Given the description of an element on the screen output the (x, y) to click on. 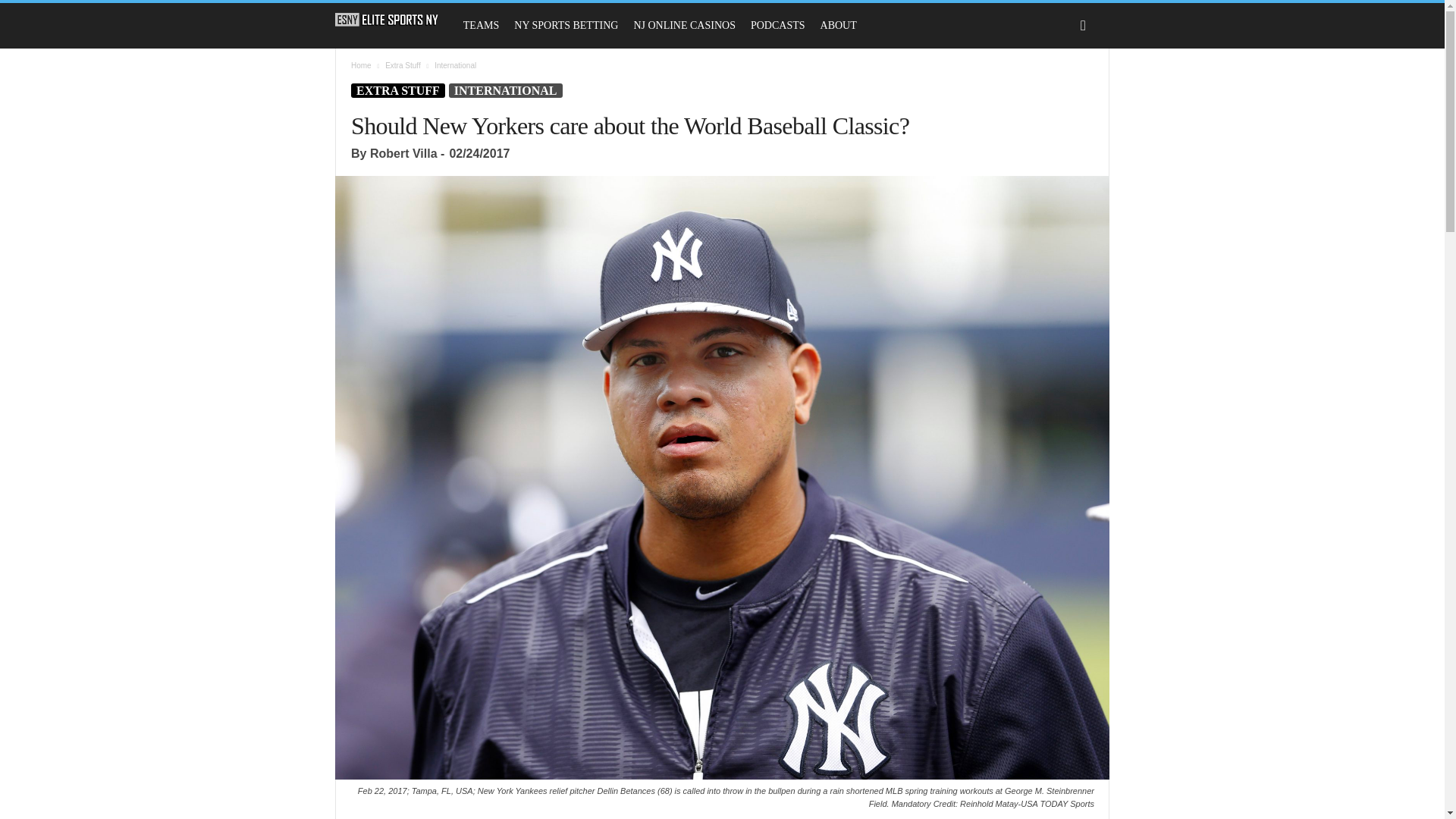
Elite Sports NY (394, 19)
Elite Sports NY (386, 19)
View all posts in Extra Stuff (402, 65)
TEAMS (480, 25)
